Given the description of an element on the screen output the (x, y) to click on. 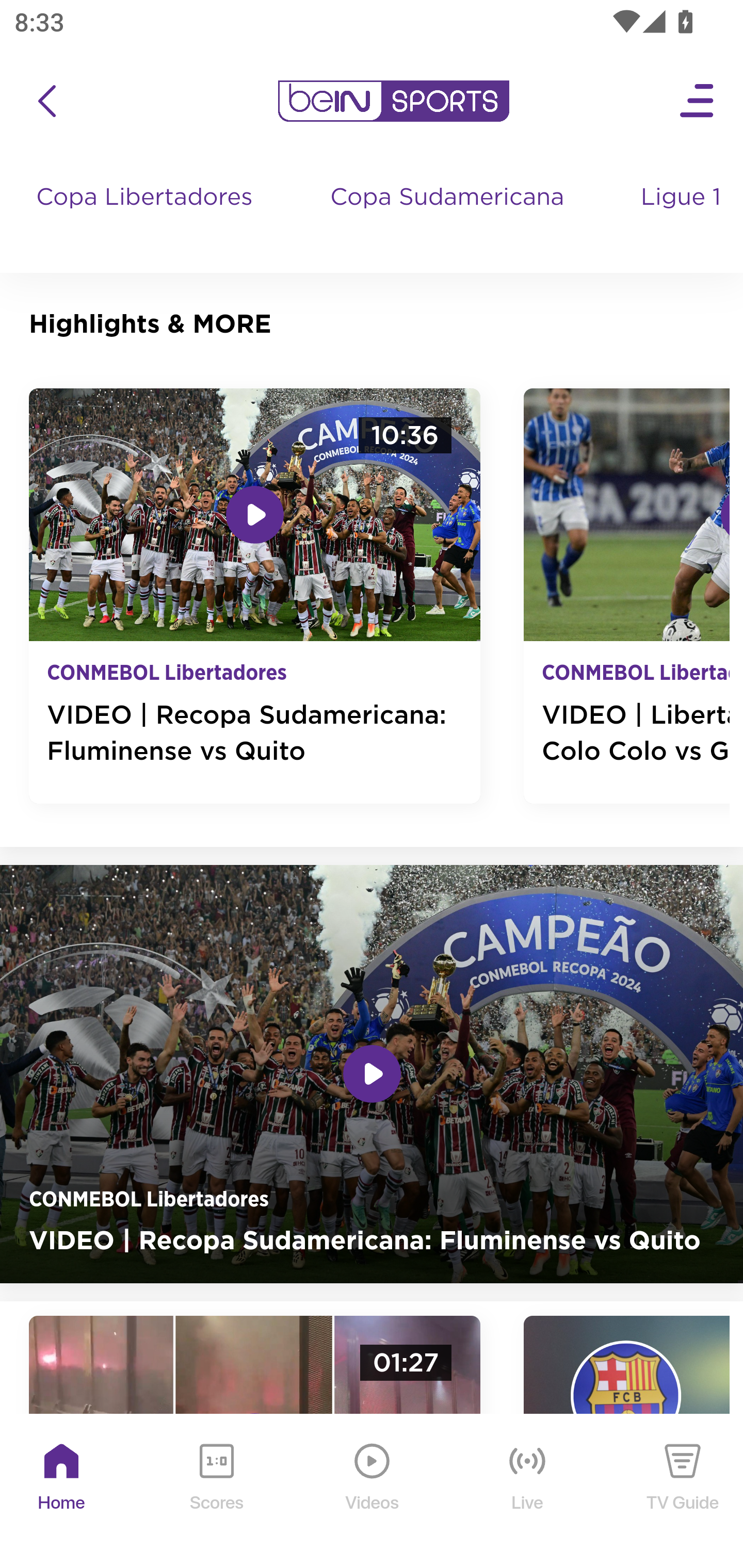
en-us?platform=mobile_android bein logo (392, 101)
icon back (46, 101)
Open Menu Icon (697, 101)
Copa Libertadores (146, 216)
Copa Sudamericana (448, 216)
Ligue 1 (682, 216)
Home Home Icon Home (61, 1491)
Scores Scores Icon Scores (216, 1491)
Videos Videos Icon Videos (372, 1491)
TV Guide TV Guide Icon TV Guide (682, 1491)
